Given the description of an element on the screen output the (x, y) to click on. 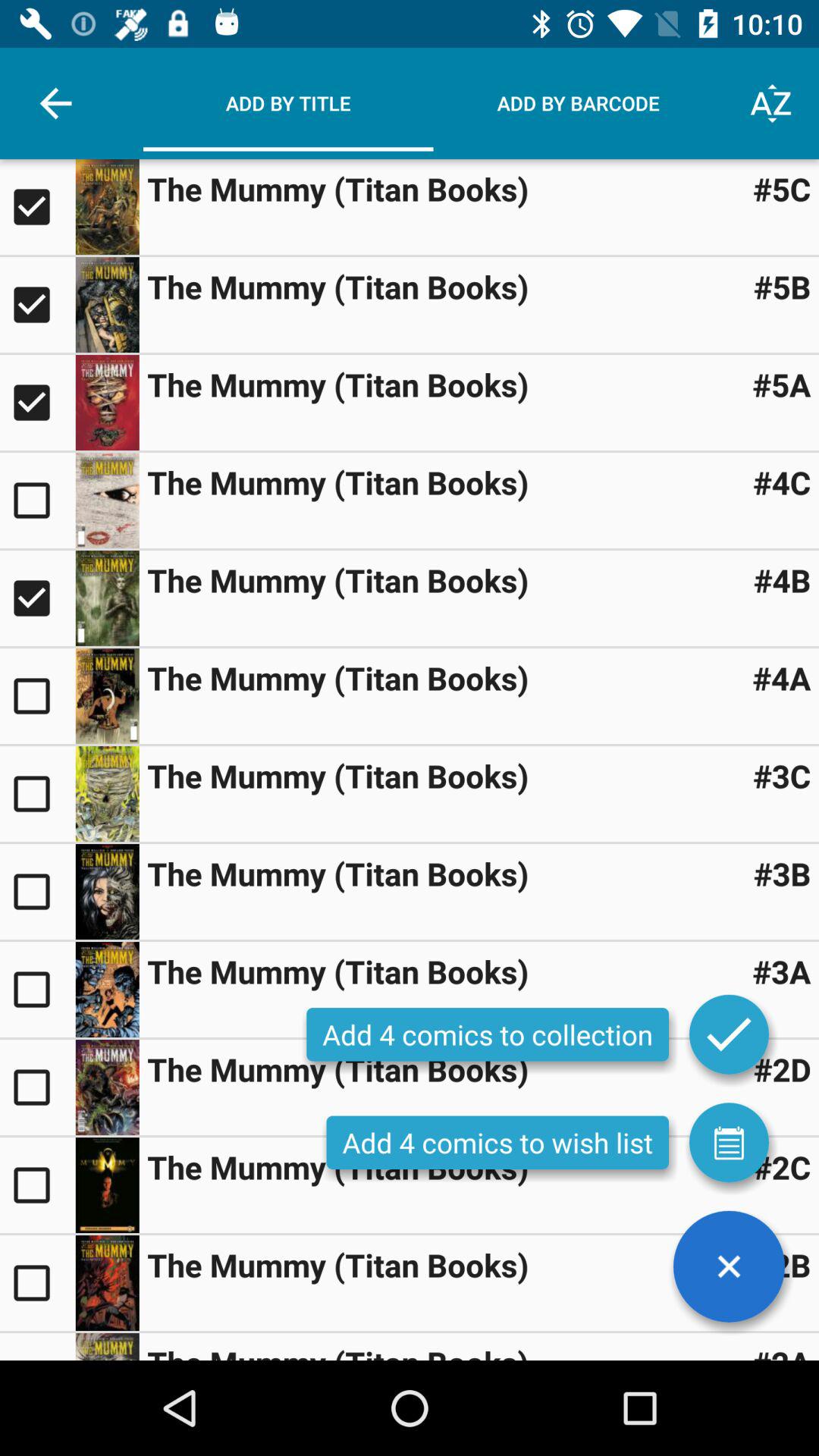
select comic (37, 695)
